Given the description of an element on the screen output the (x, y) to click on. 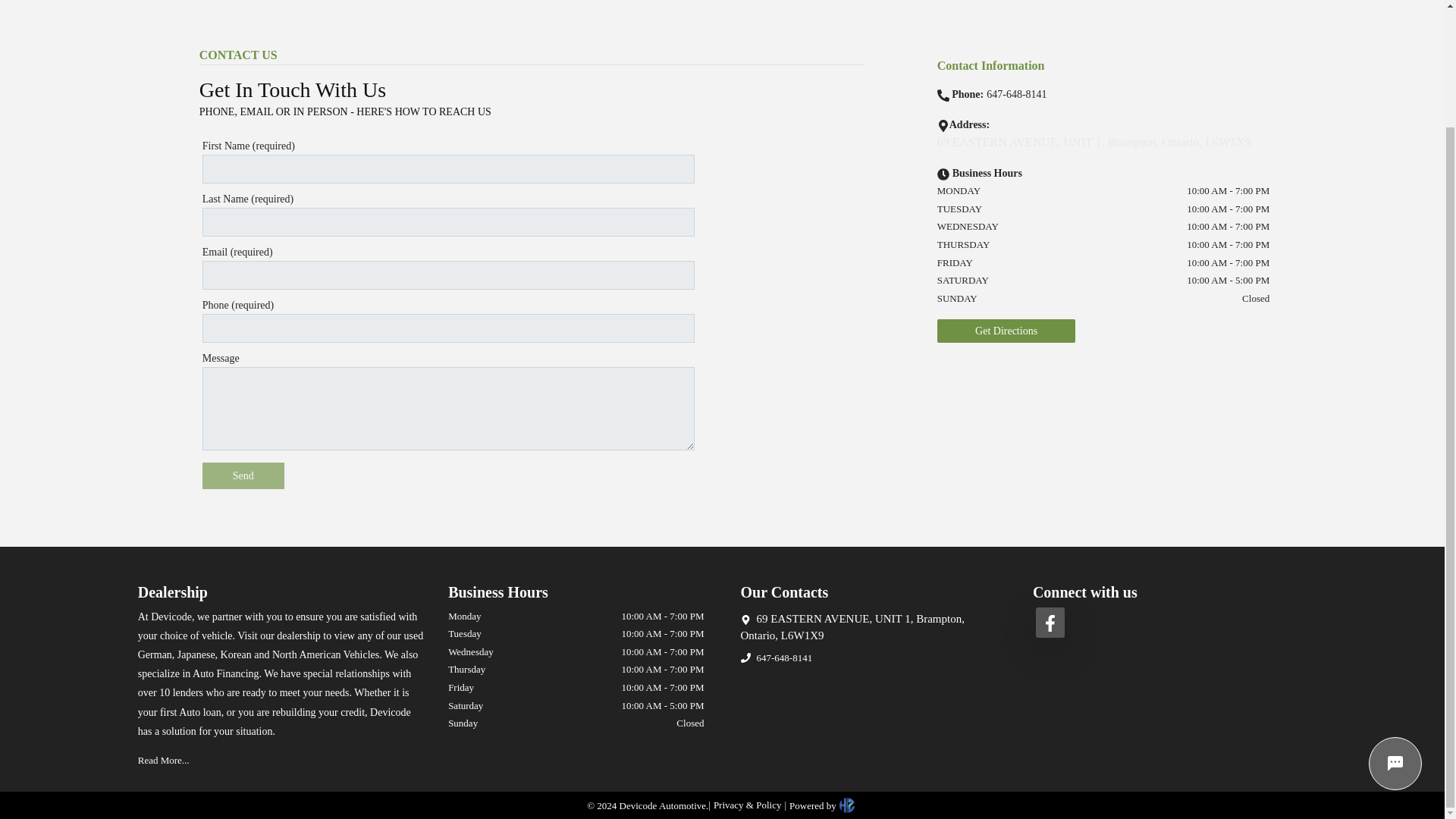
69 EASTERN AVENUE, UNIT 1, Brampton, Ontario, L6W1X9 (867, 627)
Phone:647-648-8141 (999, 92)
Send (242, 475)
Online Chat (1395, 623)
647-648-8141 (784, 657)
Get Directions (1006, 331)
Powered by (821, 805)
Read More... (163, 759)
